Given the description of an element on the screen output the (x, y) to click on. 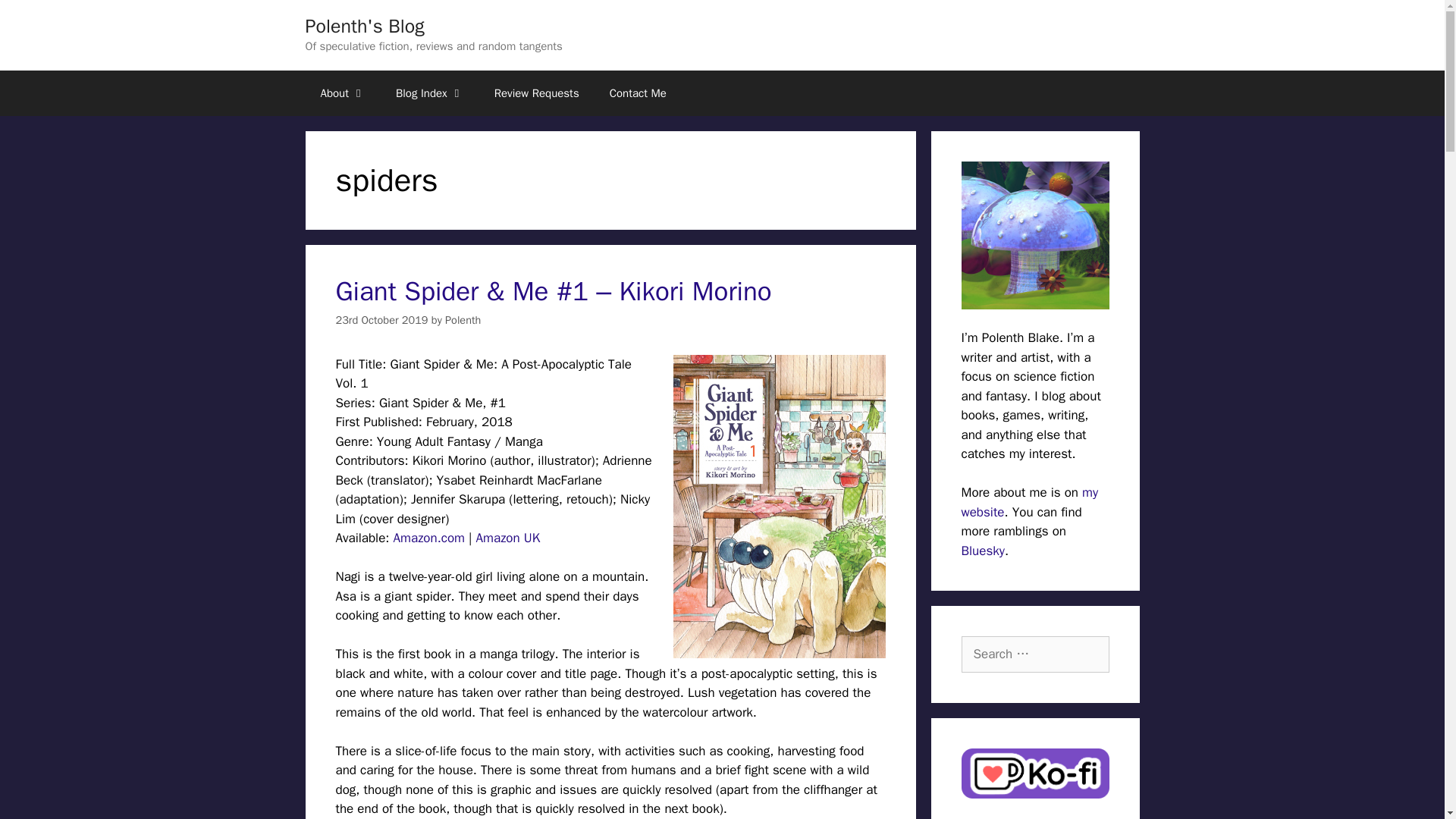
Polenth (462, 319)
Review Requests (536, 92)
Amazon UK (508, 537)
Contact Me (637, 92)
Search for: (1034, 654)
View all posts by Polenth (462, 319)
Polenth's Blog (363, 25)
Amazon.com (428, 537)
Blog Index (429, 92)
About (342, 92)
